Given the description of an element on the screen output the (x, y) to click on. 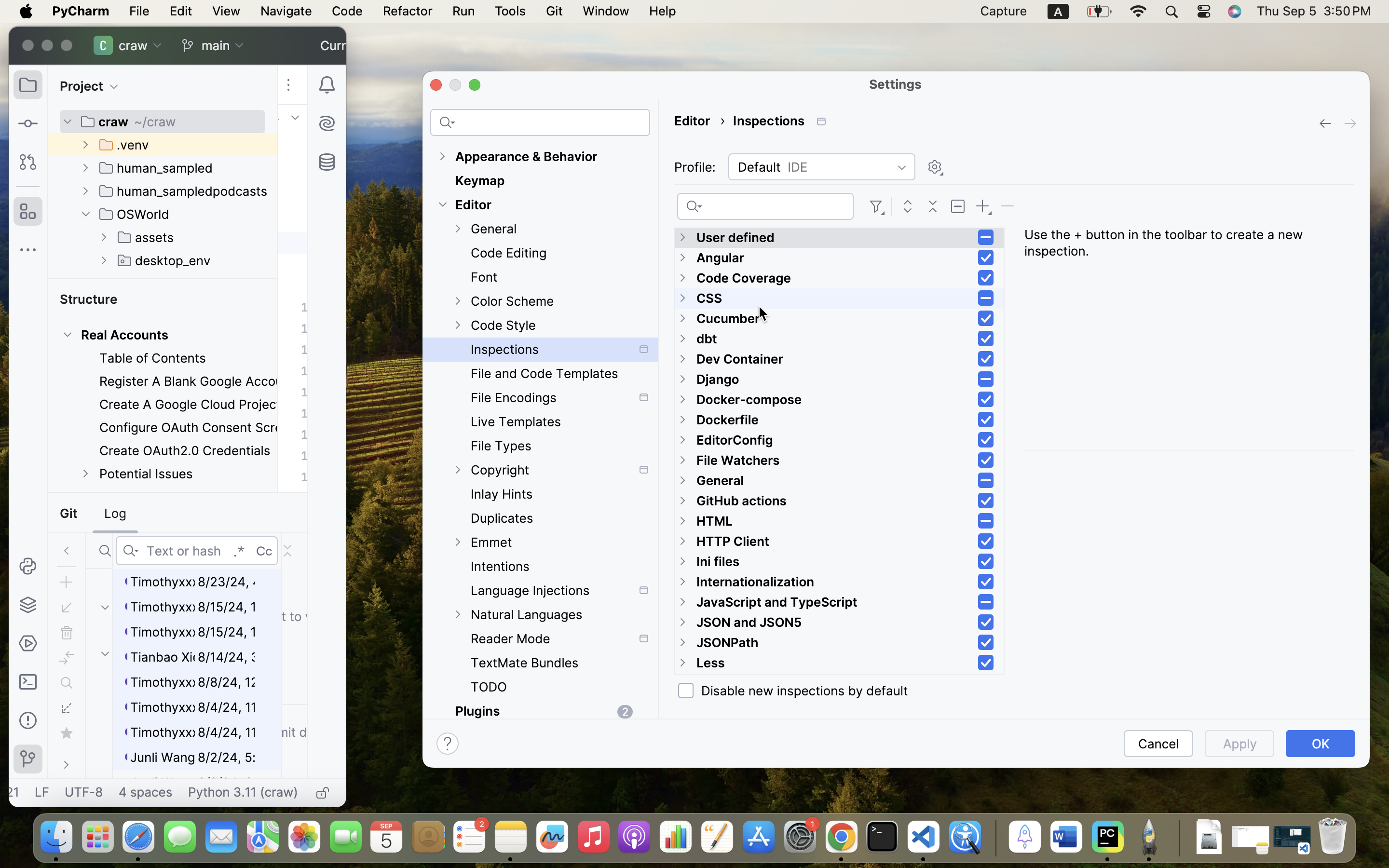
Profile: Element type: AXStaticText (694, 167)
